Given the description of an element on the screen output the (x, y) to click on. 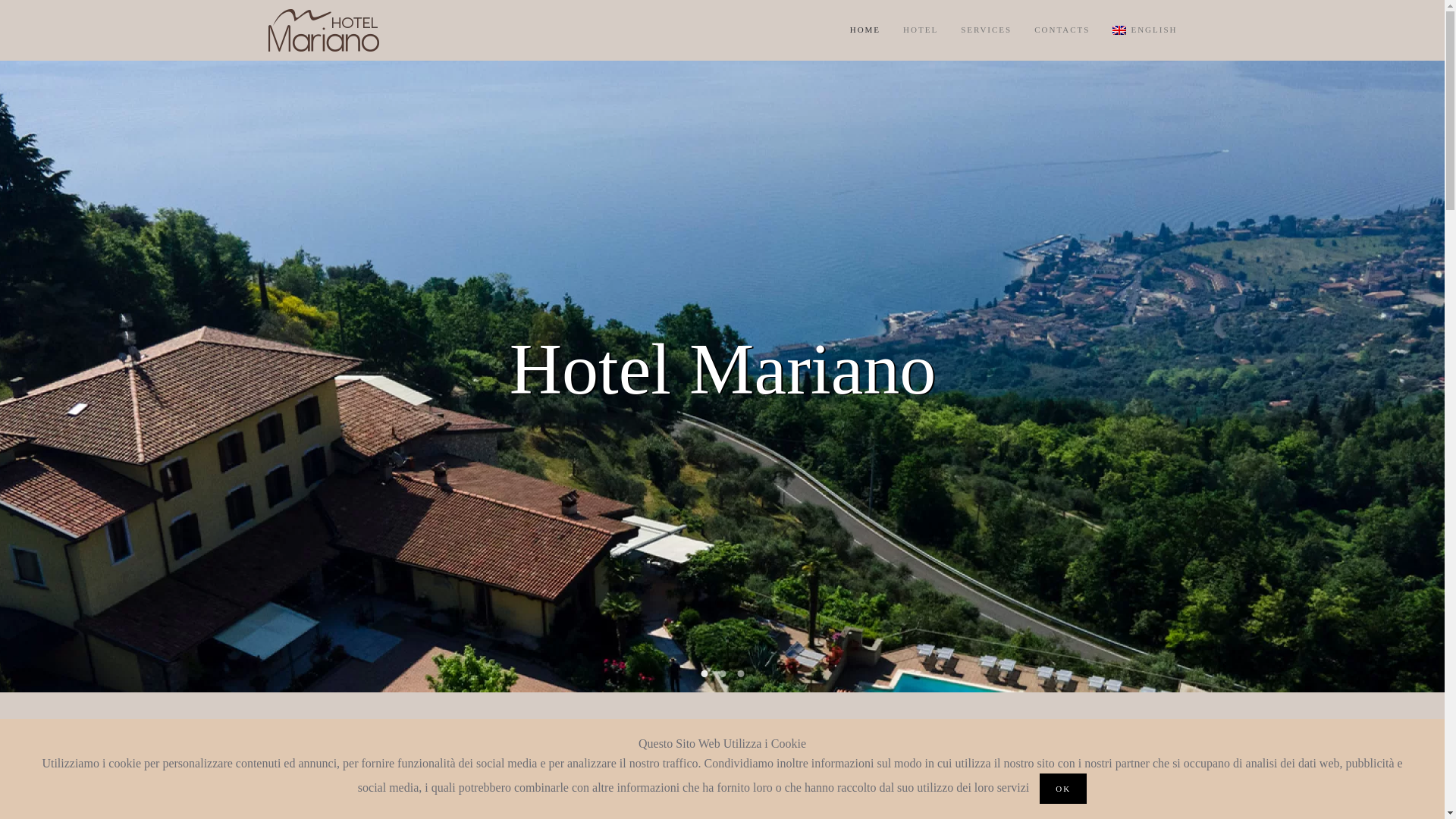
FIND OUT MORE (1166, 753)
Hotel Mariano (703, 673)
ENGLISH (1144, 30)
Stylish and Comfortable Rooms (722, 673)
CONTACTS (1061, 30)
English (1144, 30)
FIND OUT MORE (740, 673)
SERVICES (1260, 753)
